Given the description of an element on the screen output the (x, y) to click on. 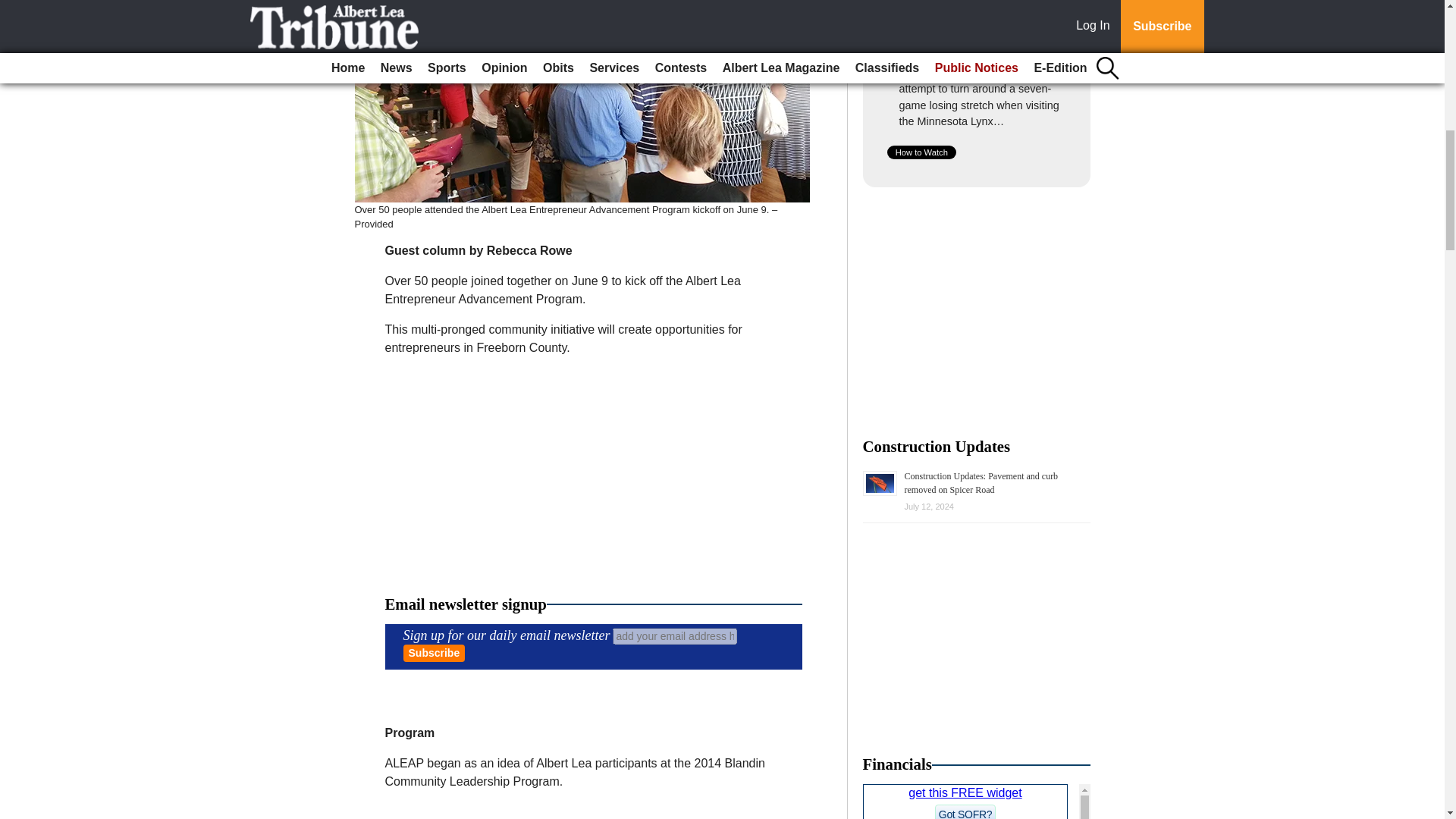
US Market Update (976, 801)
Subscribe (434, 652)
